Given the description of an element on the screen output the (x, y) to click on. 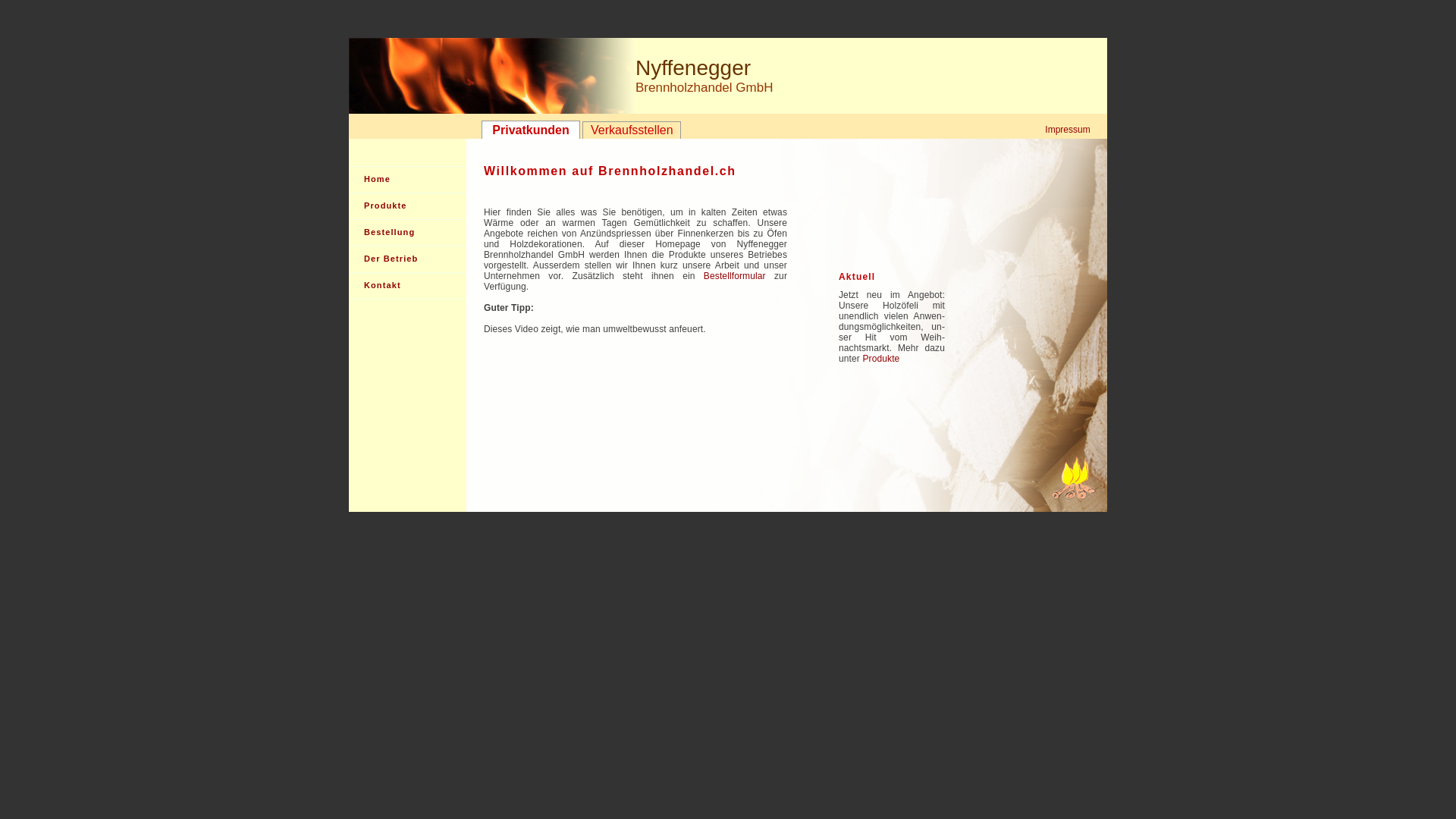
Kontakt Element type: text (407, 285)
Der Betrieb Element type: text (407, 259)
Home Element type: text (407, 179)
Bestellung Element type: text (407, 232)
Produkte Element type: text (892, 363)
Privatkunden Element type: hover (530, 129)
Verkaufsstellen Element type: hover (631, 130)
Produkte Element type: text (407, 206)
Privatkunden Element type: text (530, 129)
Bestellformular Element type: text (734, 275)
Verkaufsstellen Element type: text (631, 130)
Impressum Element type: text (1066, 129)
